Given the description of an element on the screen output the (x, y) to click on. 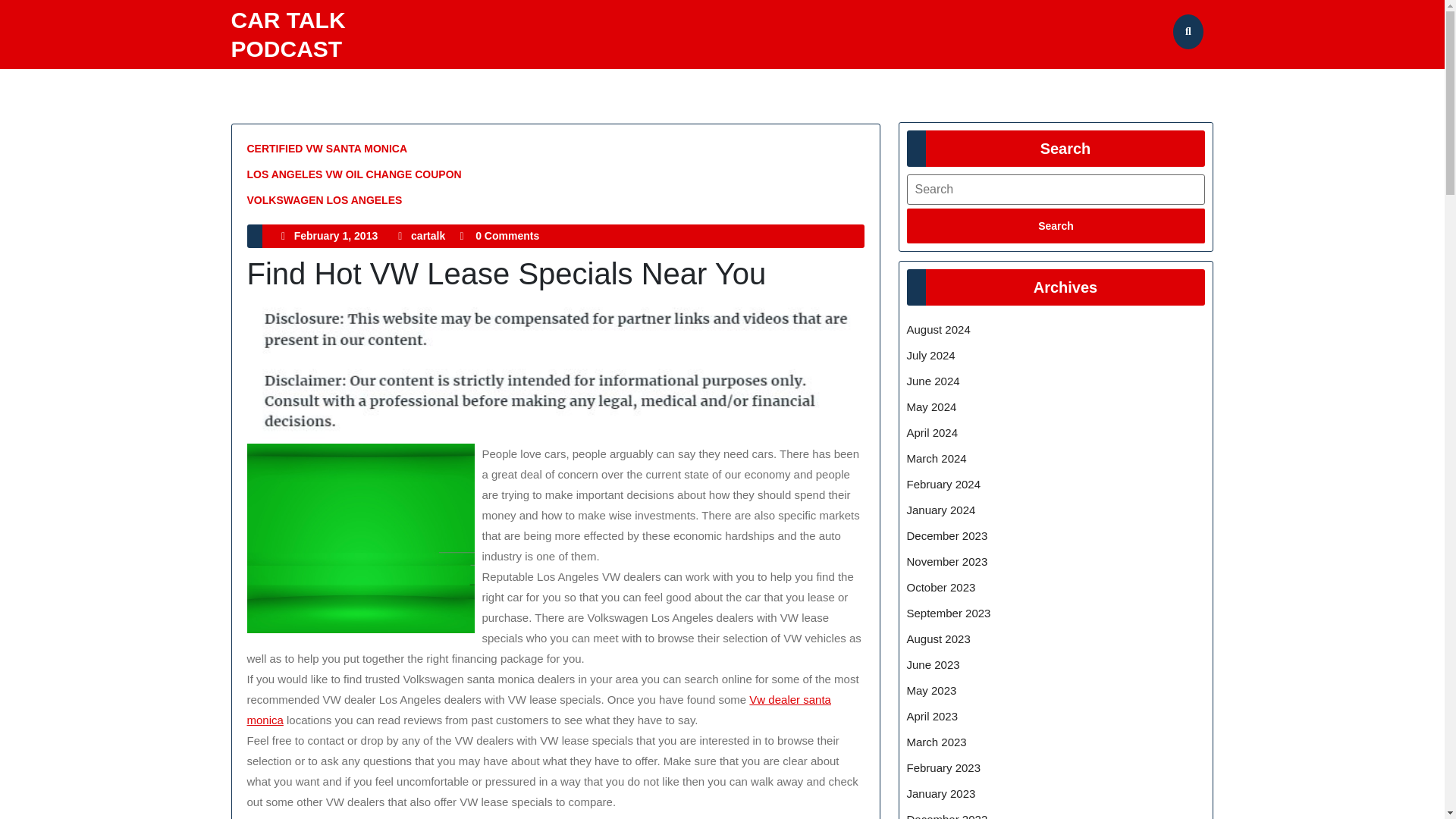
February 2024 (944, 483)
May 2023 (931, 689)
February 2023 (944, 767)
August 2024 (427, 235)
CAR TALK PODCAST (939, 328)
April 2023 (287, 34)
January 2024 (932, 716)
June 2023 (941, 509)
CERTIFIED VW SANTA MONICA (933, 664)
